Given the description of an element on the screen output the (x, y) to click on. 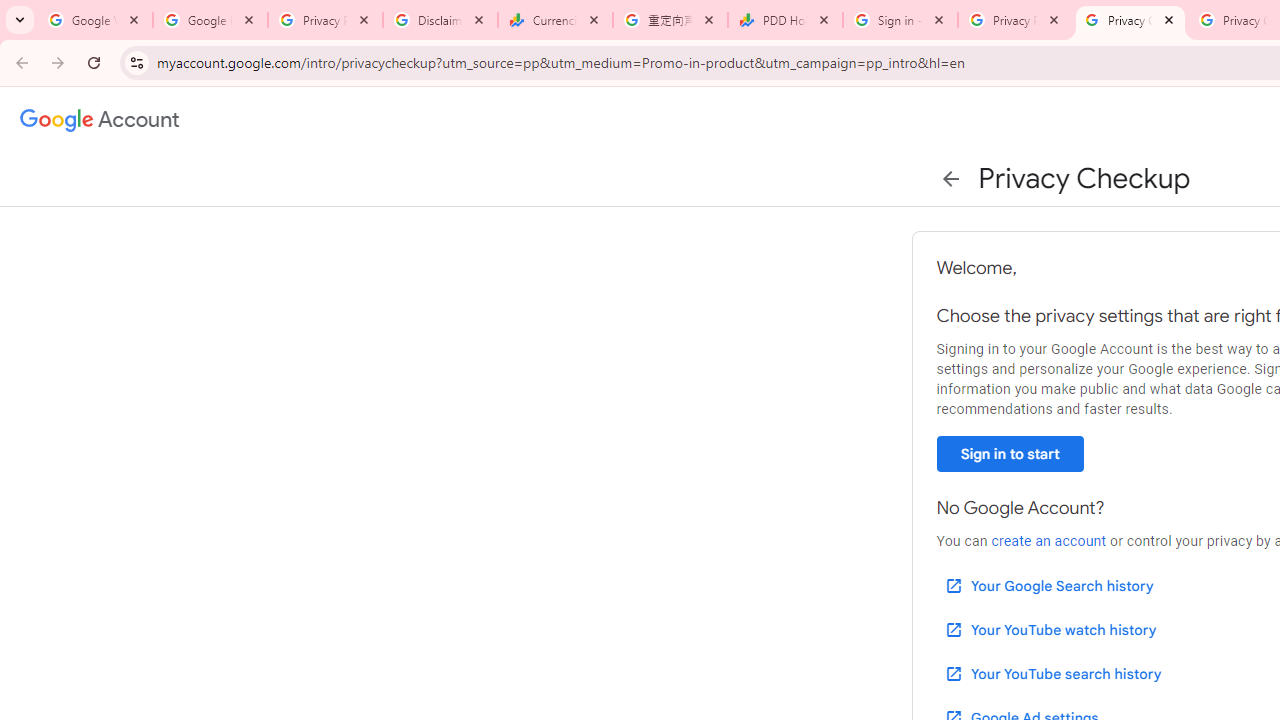
Sign in to start (1009, 454)
Google Account settings (100, 120)
